Given the description of an element on the screen output the (x, y) to click on. 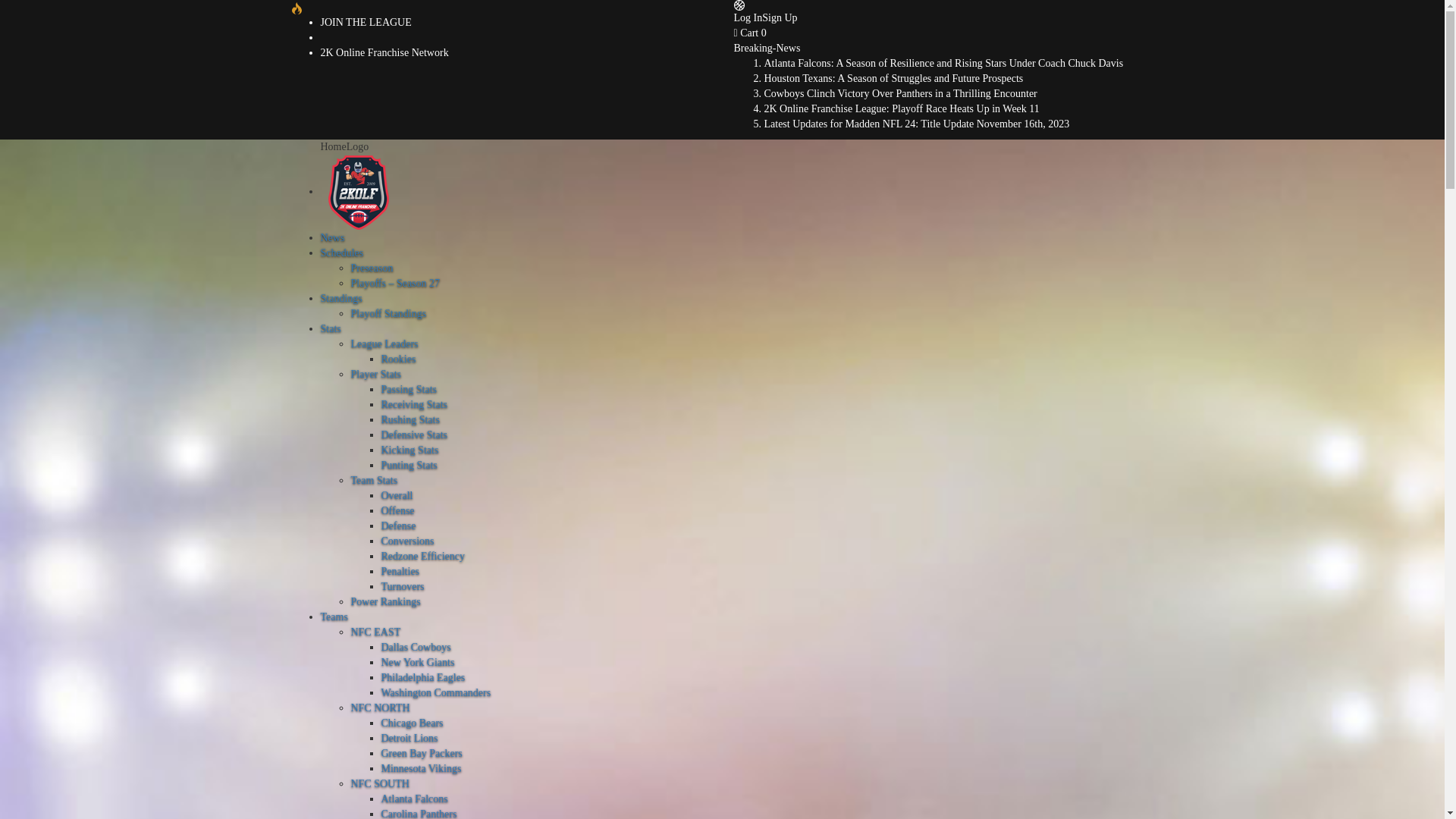
Rushing Stats Element type: text (409, 419)
Houston Texans: A Season of Struggles and Future Prospects Element type: text (893, 78)
Log In Element type: text (748, 17)
News Element type: text (332, 237)
Defensive Stats Element type: text (413, 434)
Overall Element type: text (396, 495)
JOIN THE LEAGUE Element type: text (365, 22)
New York Giants Element type: text (417, 662)
Schedules Element type: text (341, 252)
Punting Stats Element type: text (408, 464)
NFC EAST Element type: text (375, 631)
Kicking Stats Element type: text (409, 449)
2K Online Franchise League: Playoff Race Heats Up in Week 11 Element type: text (901, 108)
Playoff Standings Element type: text (388, 313)
Dallas Cowboys Element type: text (415, 646)
Green Bay Packers Element type: text (420, 753)
Philadelphia Eagles Element type: text (422, 677)
Offense Element type: text (397, 510)
Preseason Element type: text (371, 267)
Standings Element type: text (340, 298)
Turnovers Element type: text (401, 586)
Minnesota Vikings Element type: text (420, 768)
Chicago Bears Element type: text (411, 722)
Stats Element type: text (330, 328)
Conversions Element type: text (406, 540)
Atlanta Falcons Element type: text (413, 798)
Receiving Stats Element type: text (413, 404)
Defense Element type: text (397, 525)
Passing Stats Element type: text (408, 389)
Team Stats Element type: text (373, 480)
Redzone Efficiency Element type: text (422, 555)
Player Stats Element type: text (375, 373)
NFC SOUTH Element type: text (379, 783)
Penalties Element type: text (399, 571)
Sign Up Element type: text (779, 17)
Detroit Lions Element type: text (408, 737)
NFC NORTH Element type: text (379, 707)
Power Rankings Element type: text (385, 601)
Washington Commanders Element type: text (435, 692)
Teams Element type: text (333, 616)
Rookies Element type: text (397, 358)
Cart 0 Element type: text (750, 32)
League Leaders Element type: text (383, 343)
